Given the description of an element on the screen output the (x, y) to click on. 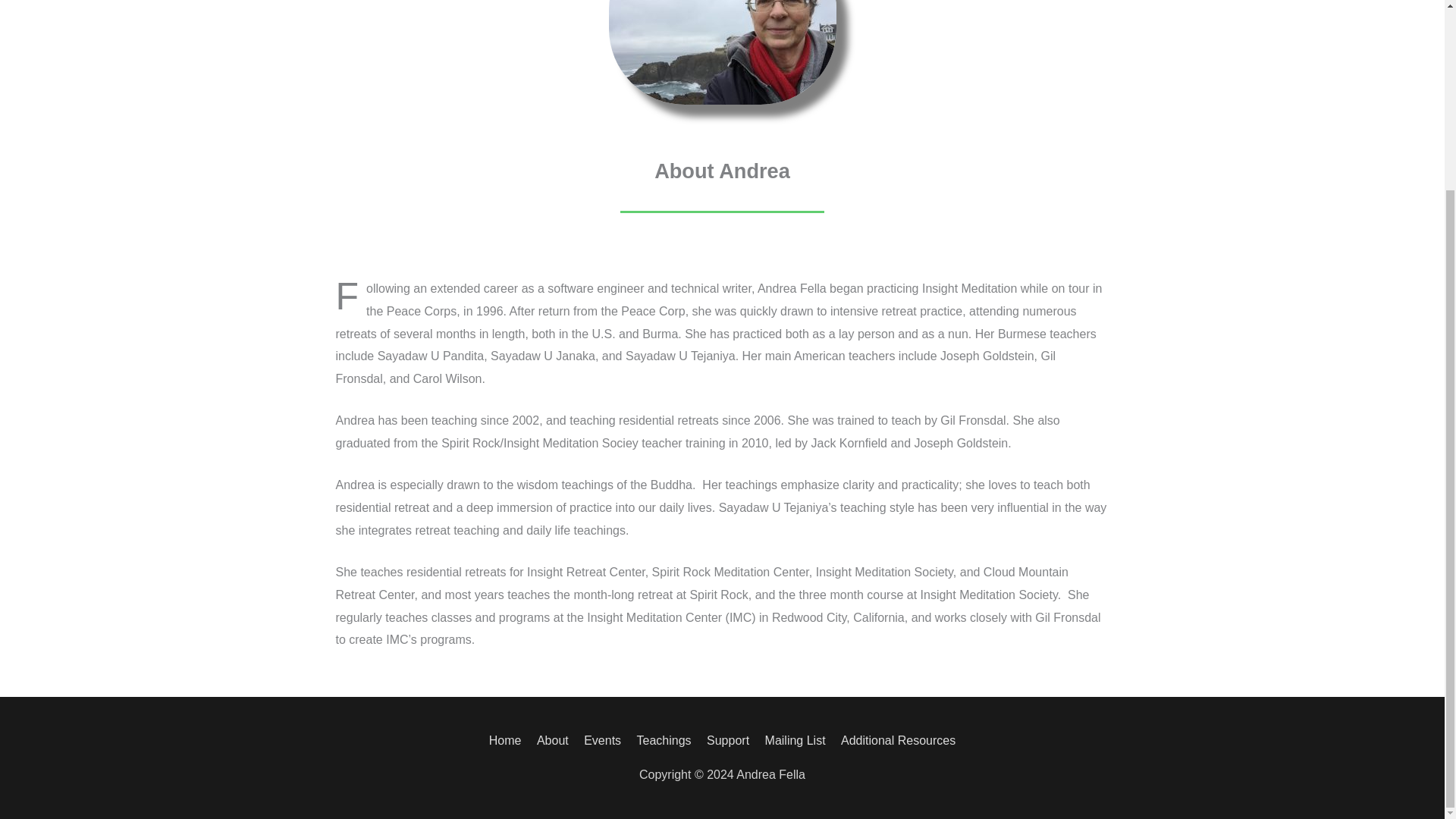
Events (602, 739)
Mailing List (794, 739)
Home (508, 739)
About (553, 739)
Additional Resources (894, 739)
Teachings (663, 739)
Support (727, 739)
